Given the description of an element on the screen output the (x, y) to click on. 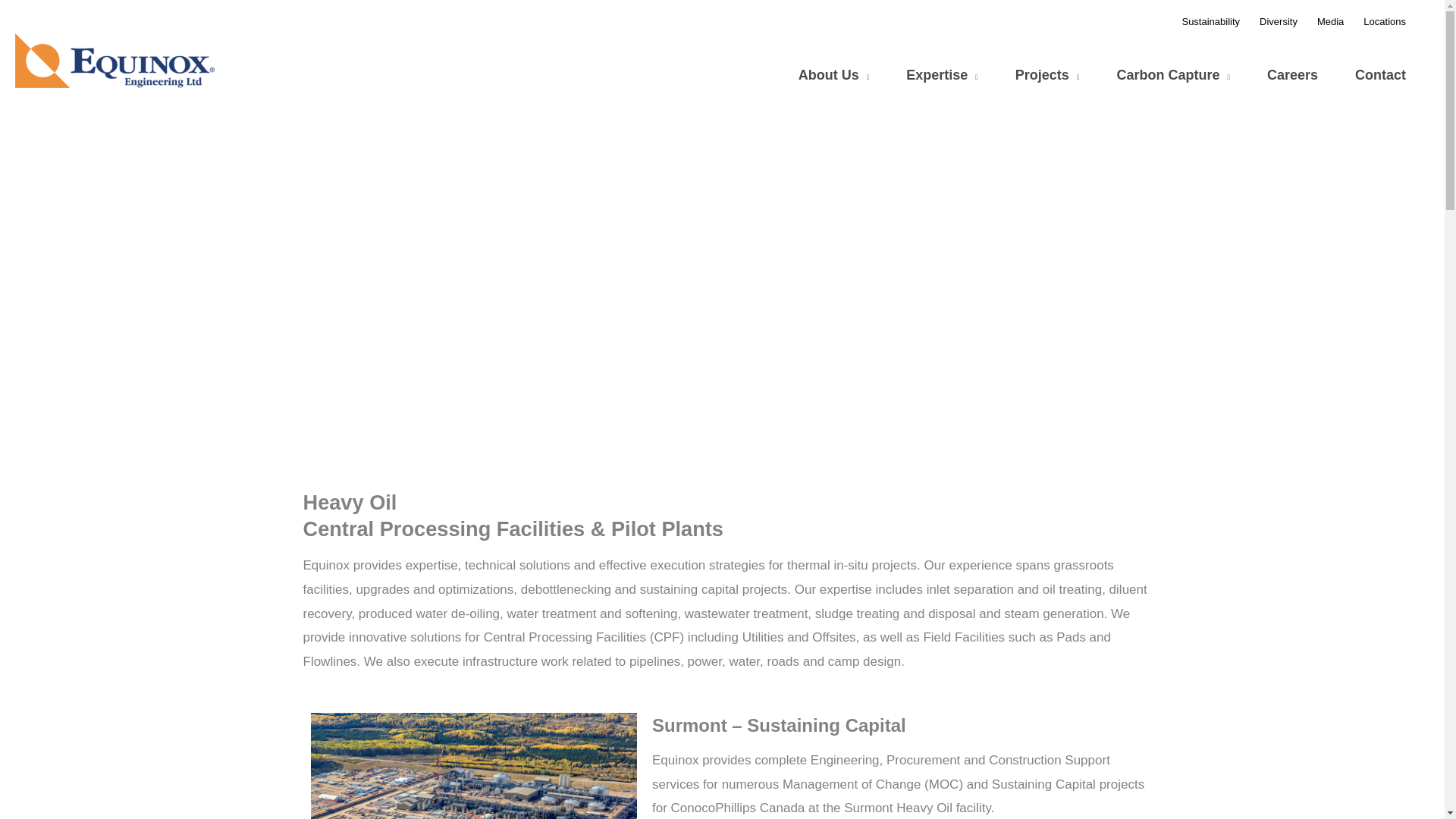
Locations (1384, 22)
Media (1330, 22)
Projects (1052, 75)
Expertise (946, 75)
Diversity (1278, 22)
Sustainability (1210, 22)
About Us (838, 75)
